Given the description of an element on the screen output the (x, y) to click on. 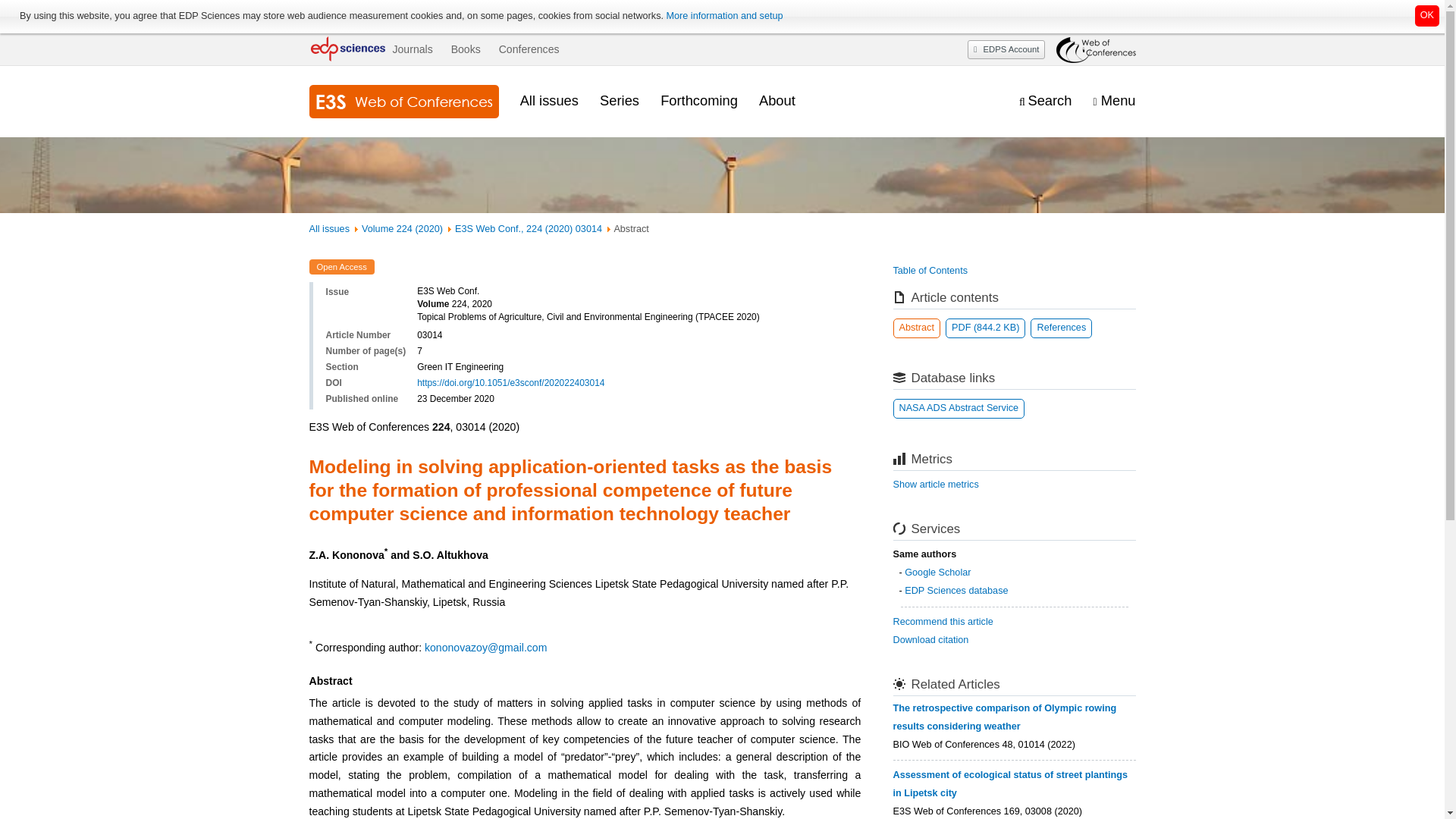
Abstract (916, 328)
More information and setup (724, 15)
Journals (411, 49)
Books (465, 49)
Display the search engine (1045, 101)
OK (1427, 15)
Conferences (529, 49)
Journal homepage (403, 101)
Click to close this notification (1427, 15)
